Given the description of an element on the screen output the (x, y) to click on. 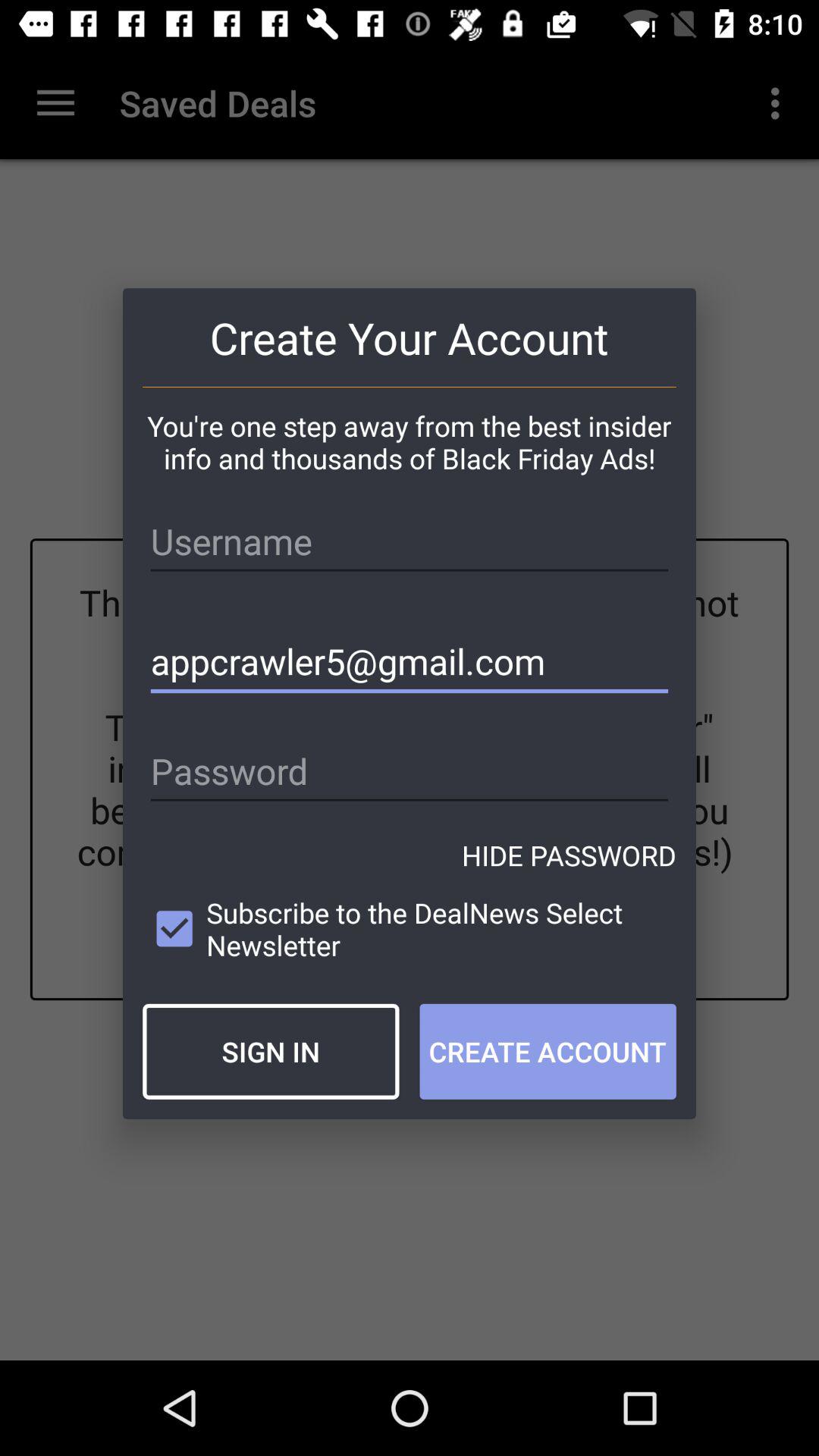
turn off icon below appcrawler5@gmail.com (409, 771)
